Given the description of an element on the screen output the (x, y) to click on. 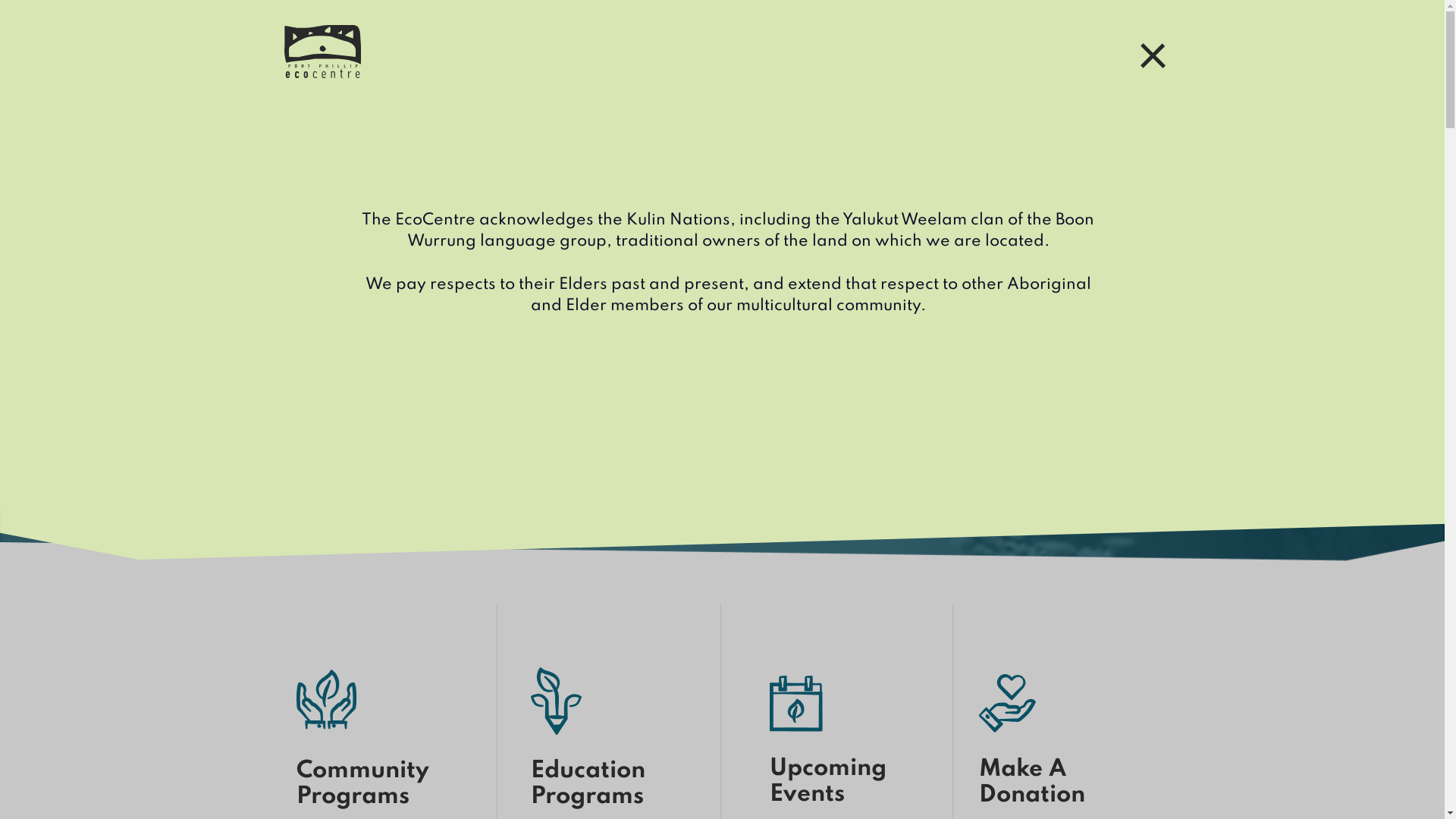
Donate Element type: text (974, 47)
Menu Element type: text (1145, 51)
Education Programs Element type: text (611, 783)
Upcoming Events Element type: text (850, 781)
Make A Donation Element type: text (1046, 782)
Community Programs Element type: text (389, 783)
